Given the description of an element on the screen output the (x, y) to click on. 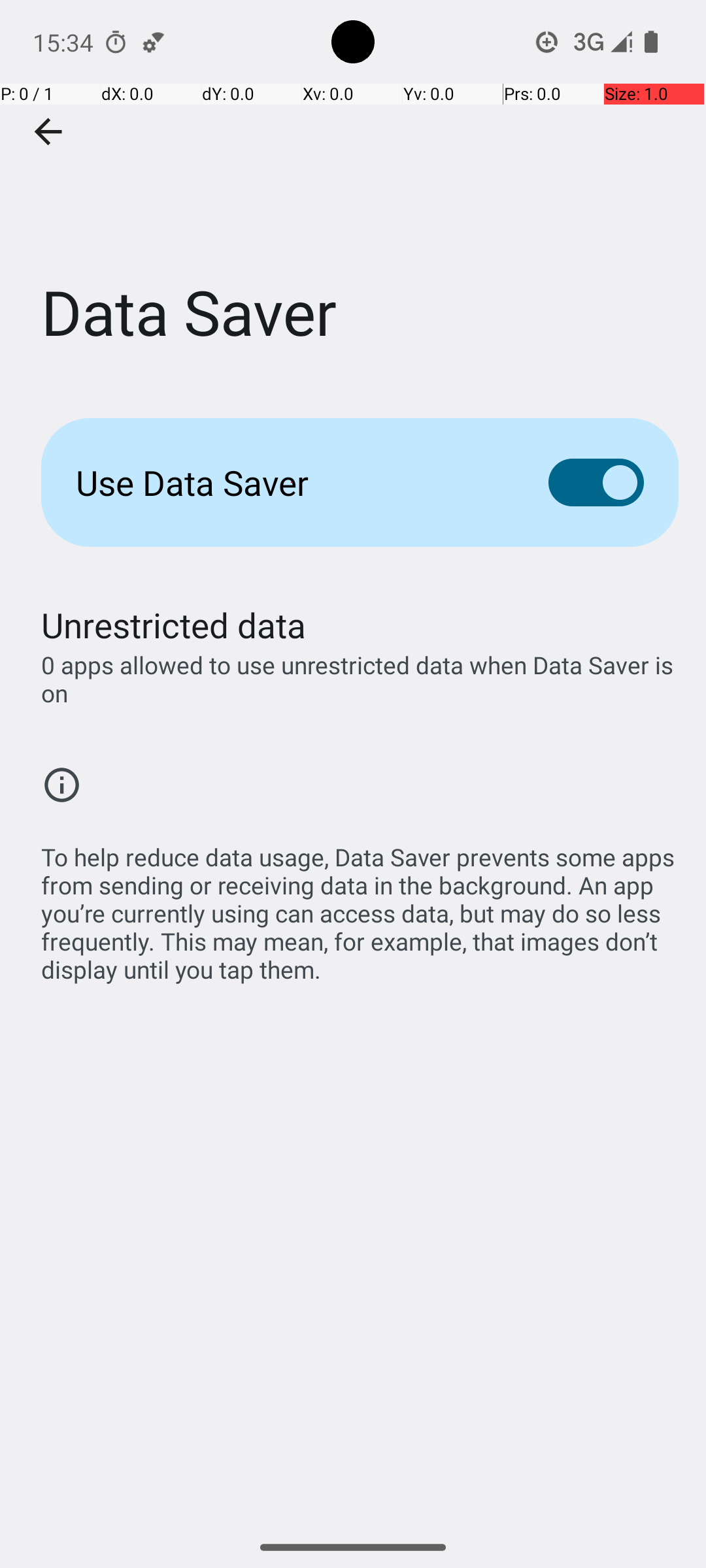
Use Data Saver Element type: android.widget.TextView (291, 482)
Unrestricted data Element type: android.widget.TextView (173, 624)
0 apps allowed to use unrestricted data when Data Saver is on Element type: android.widget.TextView (359, 678)
To help reduce data usage, Data Saver prevents some apps from sending or receiving data in the background. An app you’re currently using can access data, but may do so less frequently. This may mean, for example, that images don’t display until you tap them. Element type: android.widget.TextView (359, 905)
